Given the description of an element on the screen output the (x, y) to click on. 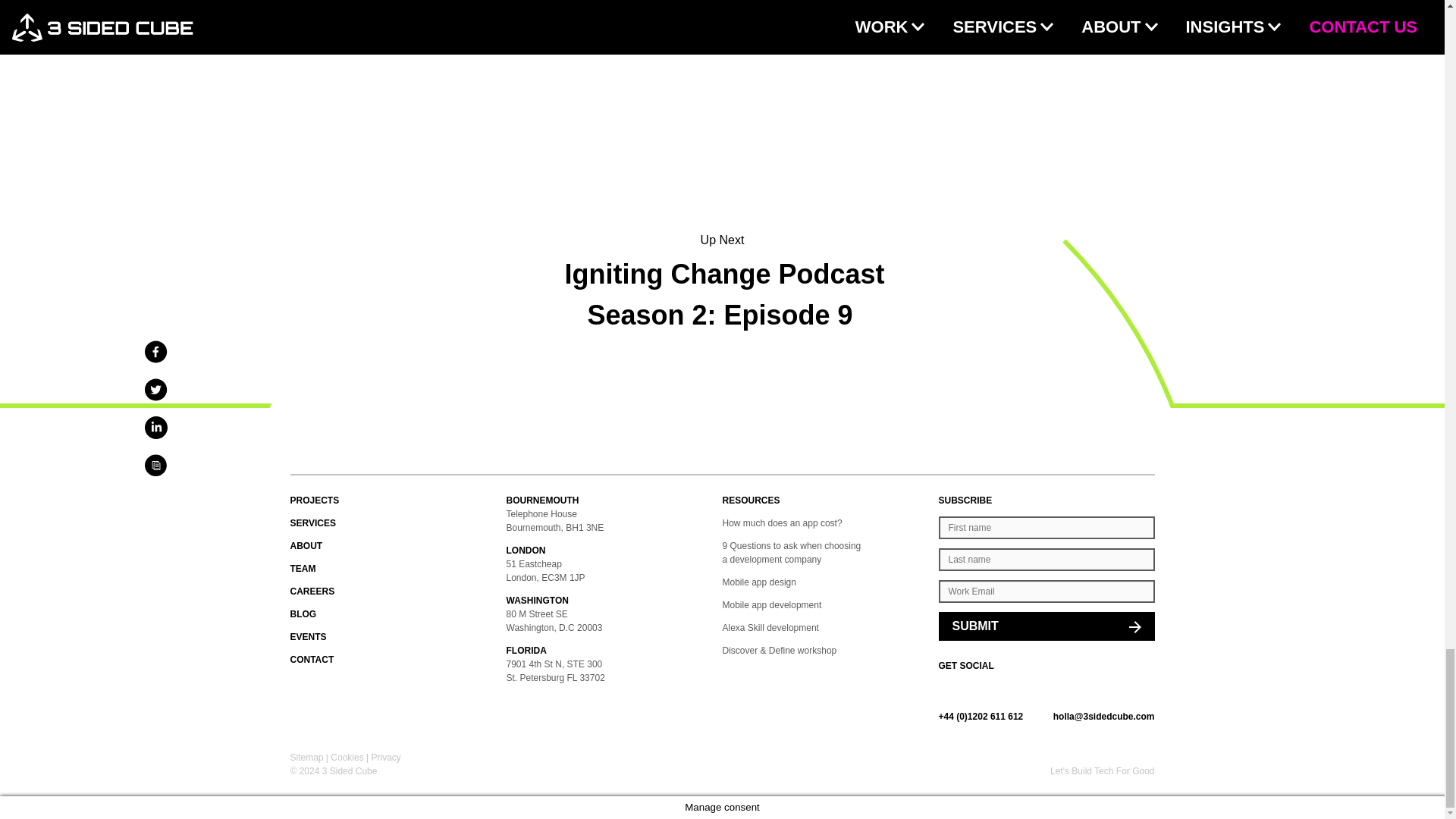
Submit (1046, 625)
Mobile App Development Washington (614, 600)
Mobile App Development Bournemouth (614, 499)
Mobile App Development London (614, 550)
